Given the description of an element on the screen output the (x, y) to click on. 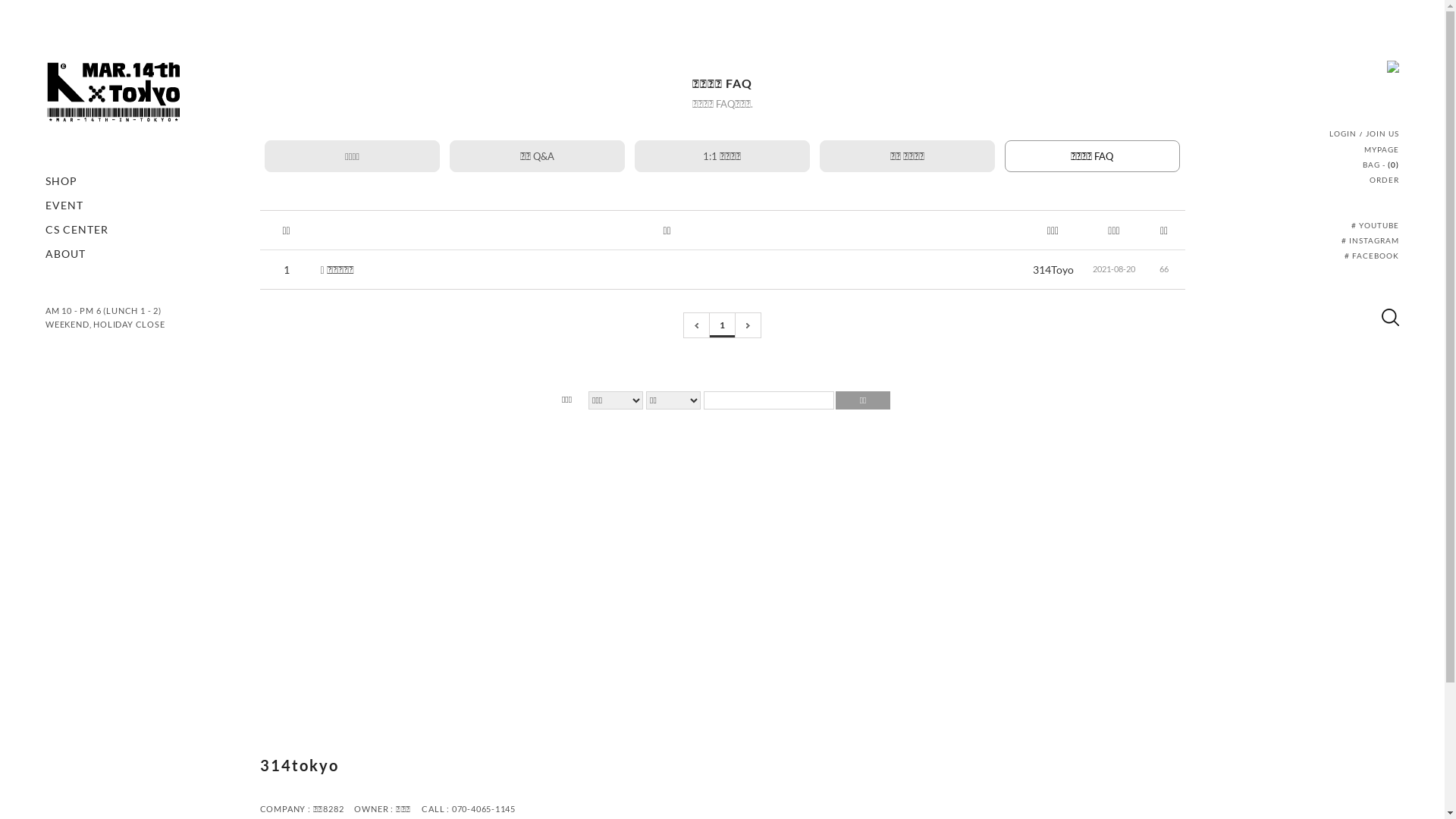
# YOUTUBE Element type: text (1375, 224)
ORDER Element type: text (1384, 179)
# FACEBOOK Element type: text (1371, 255)
LOGIN Element type: text (1342, 133)
JOIN US Element type: text (1382, 133)
SHOP Element type: text (61, 180)
ABOUT Element type: text (65, 253)
BAG - (0) Element type: text (1380, 164)
CS CENTER Element type: text (76, 228)
MYPAGE Element type: text (1381, 148)
# INSTAGRAM Element type: text (1370, 239)
1 Element type: text (721, 325)
EVENT Element type: text (64, 204)
